Given the description of an element on the screen output the (x, y) to click on. 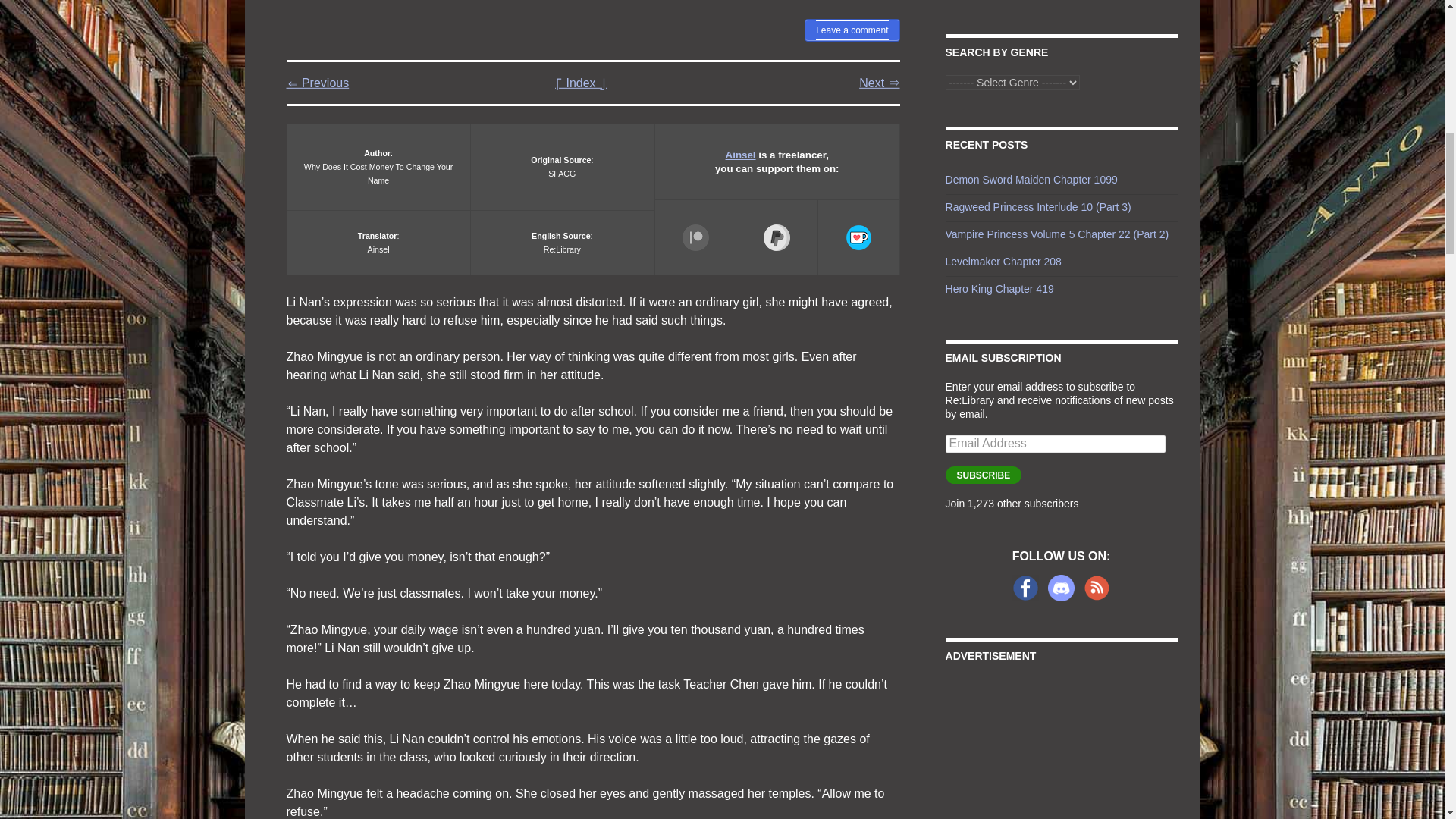
PayPal (776, 237)
Leave a comment (852, 29)
Chapter 33 - What Normal Person Would Like a Female Ghost (317, 82)
Ko-Fi (858, 237)
Ainsel (740, 154)
Chapter 35 - Feelings and Ambush (879, 82)
Patreon (695, 237)
